Given the description of an element on the screen output the (x, y) to click on. 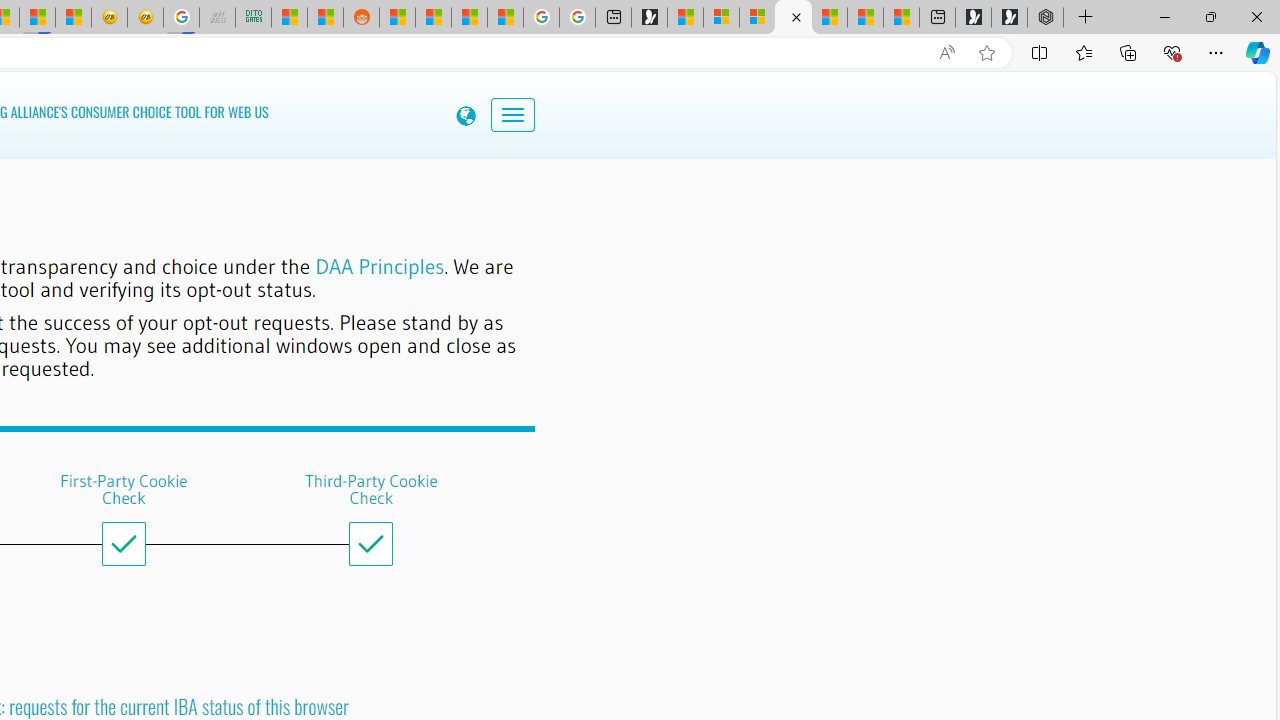
Play Free Online Games | Games from Microsoft Start (1009, 17)
Class: icon icon-check (370, 544)
Toggle navigation (495, 110)
Microsoft Start Gaming (649, 17)
MSN (37, 17)
R******* | Trusted Community Engagement and Contributions (397, 17)
